Given the description of an element on the screen output the (x, y) to click on. 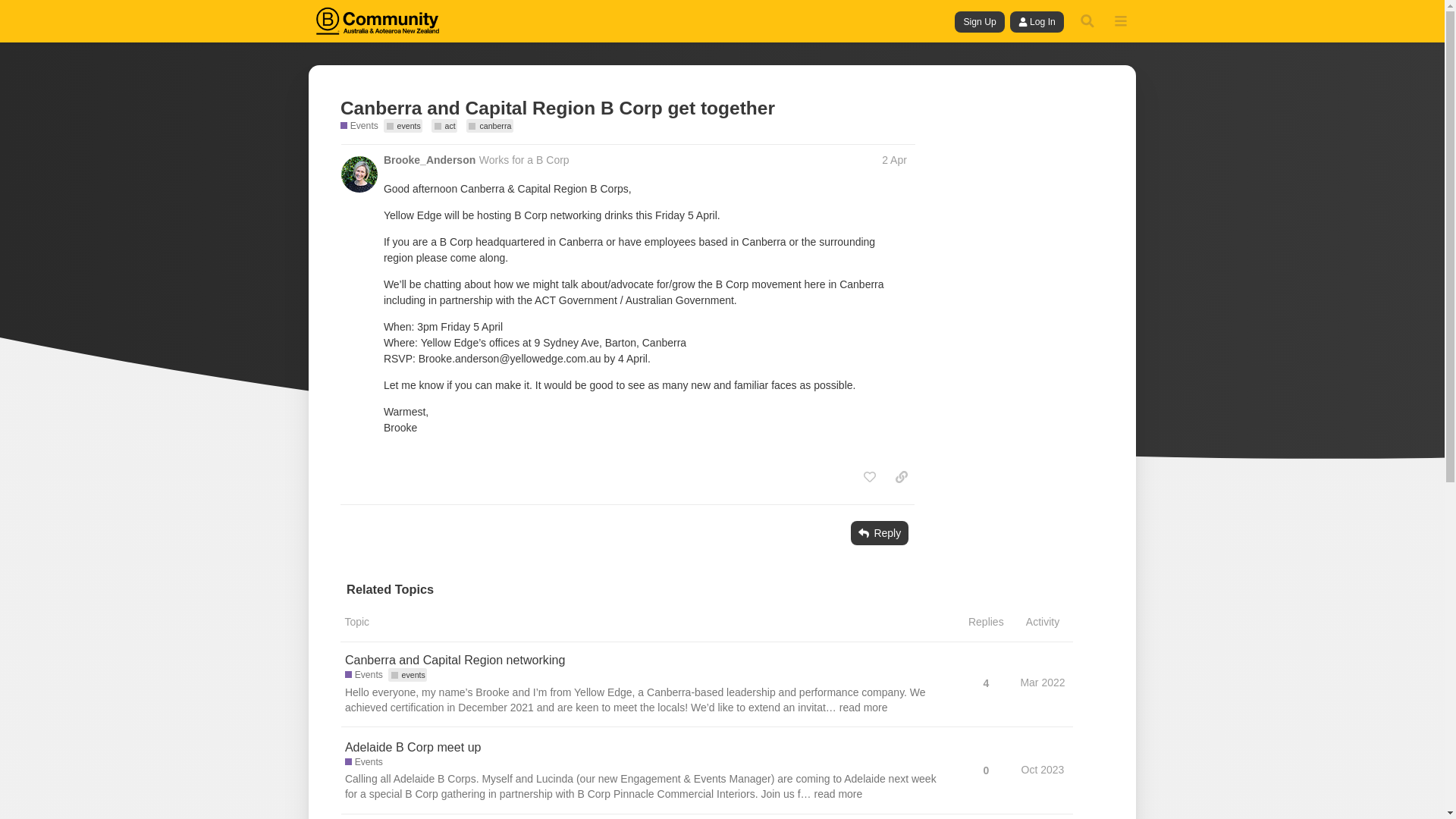
Log In (1037, 21)
Mar 2022 (1042, 682)
Post date (894, 159)
act (444, 125)
menu (1120, 20)
Works for a B Corp (524, 159)
Sign Up (979, 21)
events (403, 125)
Add or find an event near you. (359, 125)
Reply (879, 532)
like this post (869, 476)
Add or find an event near you. (363, 675)
events (408, 674)
Oct 2023 (1042, 769)
Add or find an event near you. (363, 762)
